Given the description of an element on the screen output the (x, y) to click on. 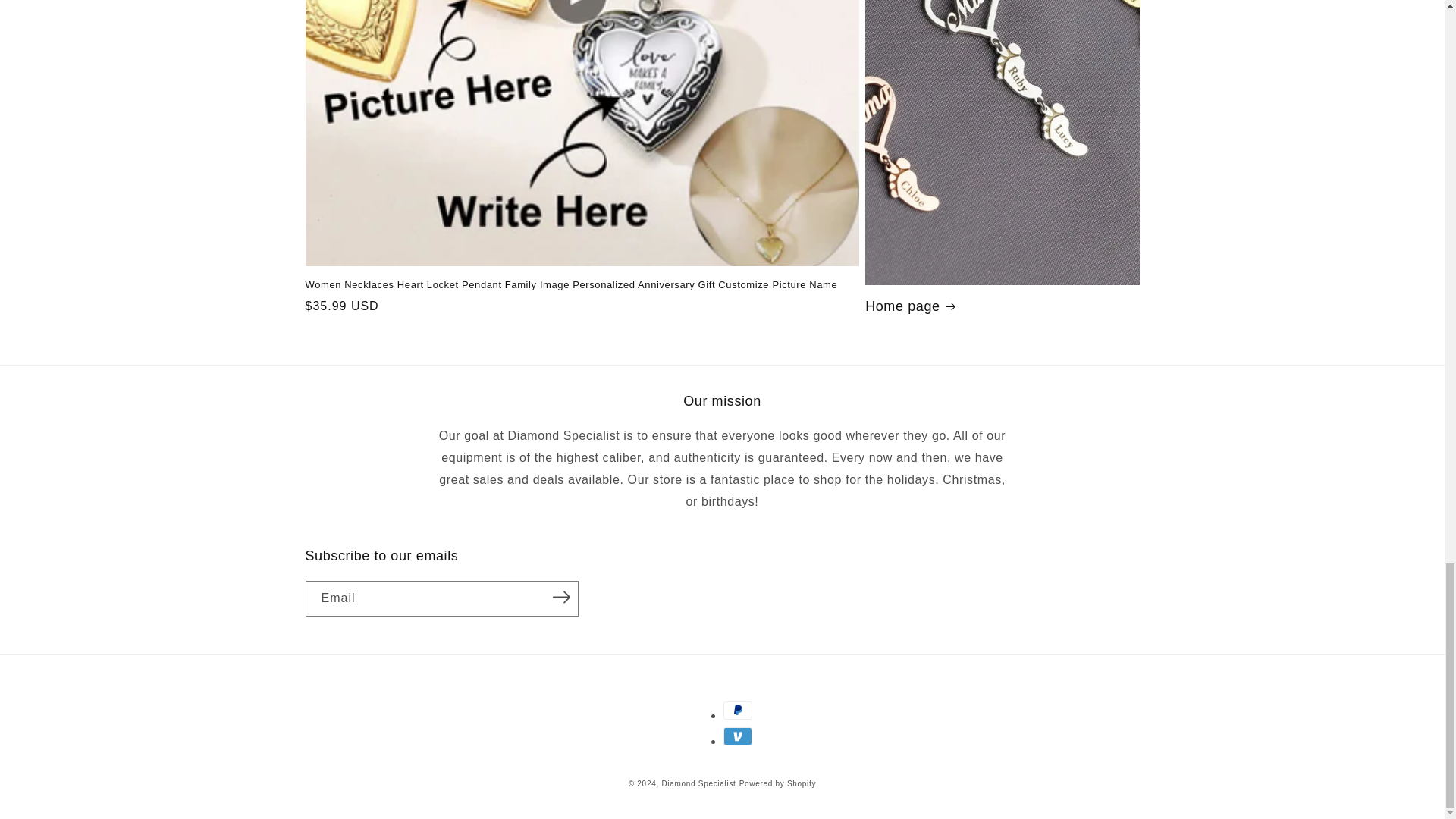
Home page (1001, 306)
Powered by Shopify (777, 783)
Venmo (737, 736)
Diamond Specialist (698, 783)
PayPal (737, 710)
